Given the description of an element on the screen output the (x, y) to click on. 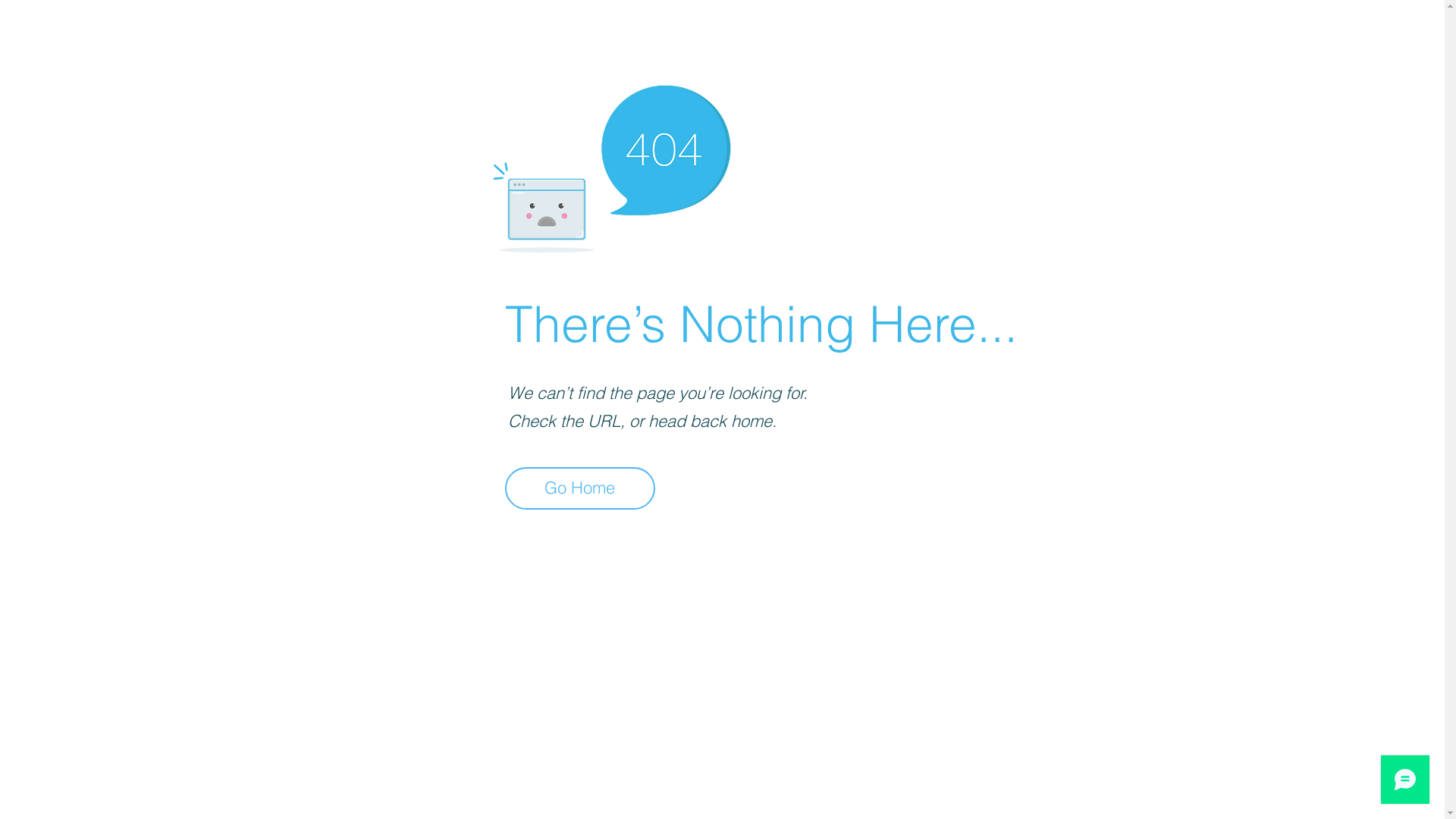
Go Home Element type: text (580, 488)
404-icon_2.png Element type: hover (610, 164)
